Given the description of an element on the screen output the (x, y) to click on. 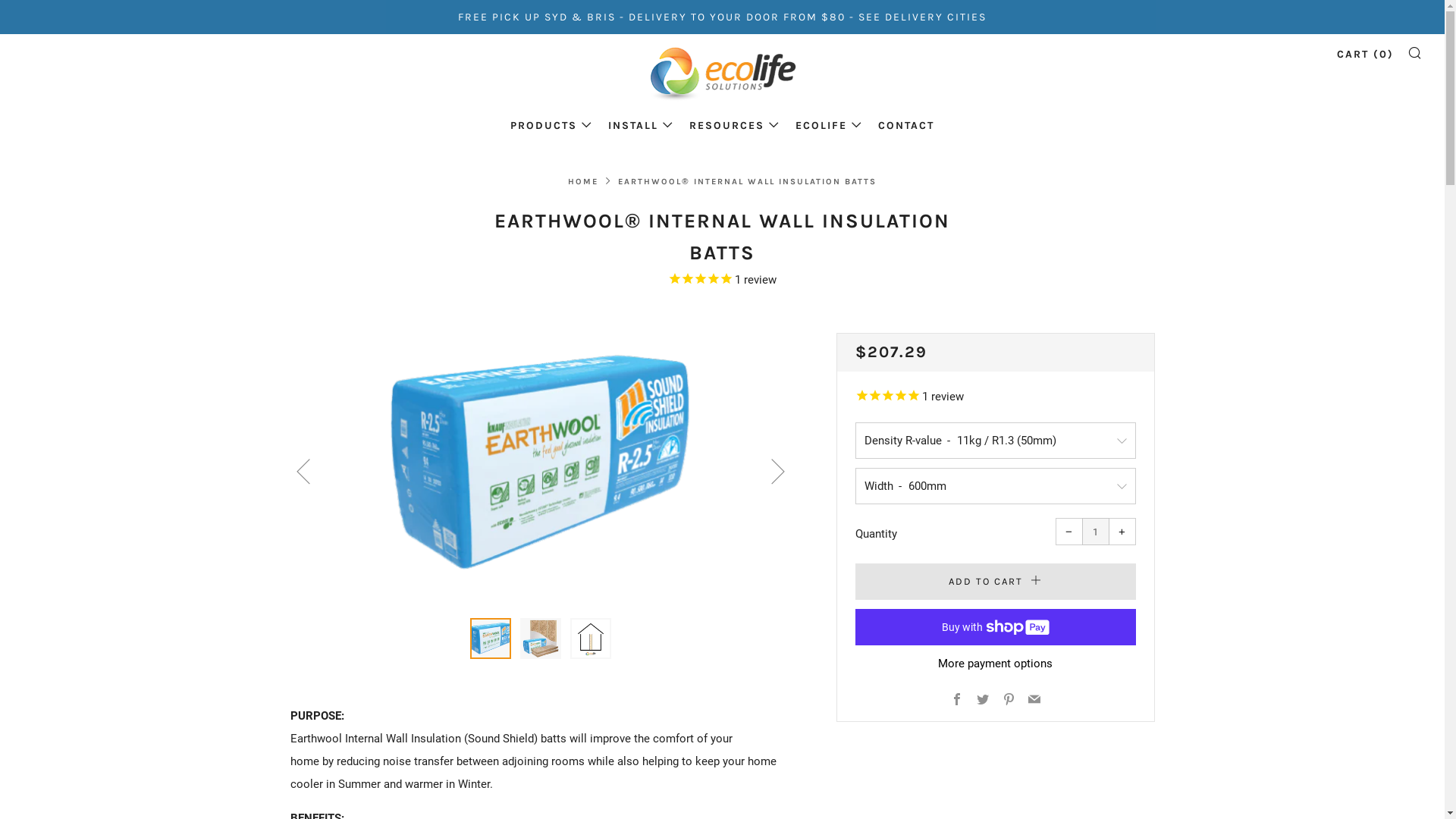
ADD TO CART Element type: text (995, 581)
1 review Element type: text (995, 396)
CONTACT Element type: text (906, 125)
Pinterest Element type: text (1008, 700)
Facebook Element type: text (956, 700)
CART (0) Element type: text (1364, 53)
ECOLIFE Element type: text (828, 125)
+
Increase item quantity by one Element type: text (1121, 531)
Product image 1 Element type: text (490, 638)
RESOURCES Element type: text (734, 125)
PRODUCTS Element type: text (551, 125)
More payment options Element type: text (995, 663)
Twitter Element type: text (982, 700)
SEARCH Element type: text (1414, 52)
Product image 2 Element type: text (540, 638)
HOME Element type: text (582, 181)
Email Element type: text (1034, 700)
INSTALL Element type: text (640, 125)
Product image 3 Element type: text (590, 638)
